Given the description of an element on the screen output the (x, y) to click on. 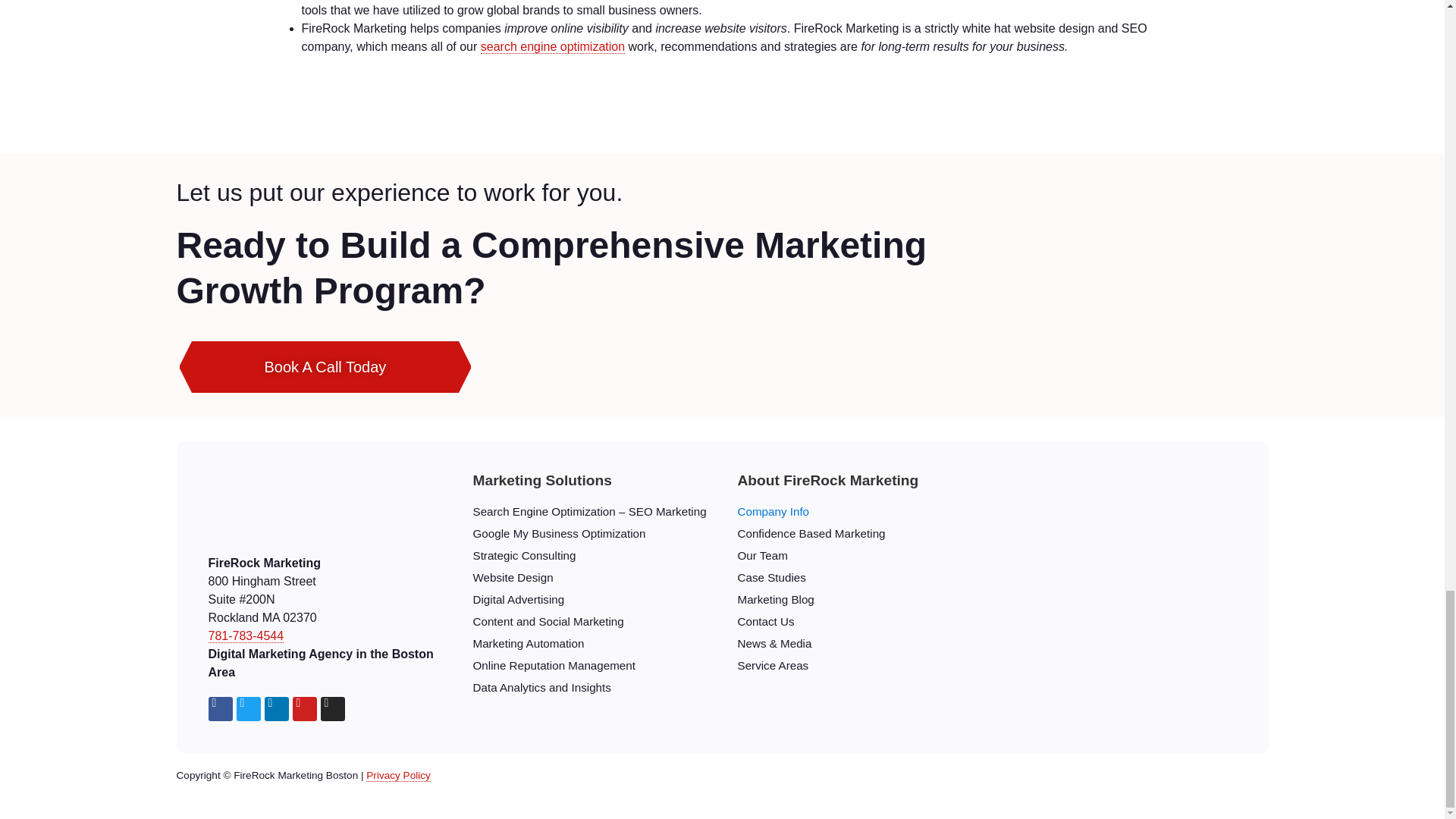
Book A Call Today (324, 367)
781-783-4544 (245, 635)
search engine optimization (552, 47)
